Given the description of an element on the screen output the (x, y) to click on. 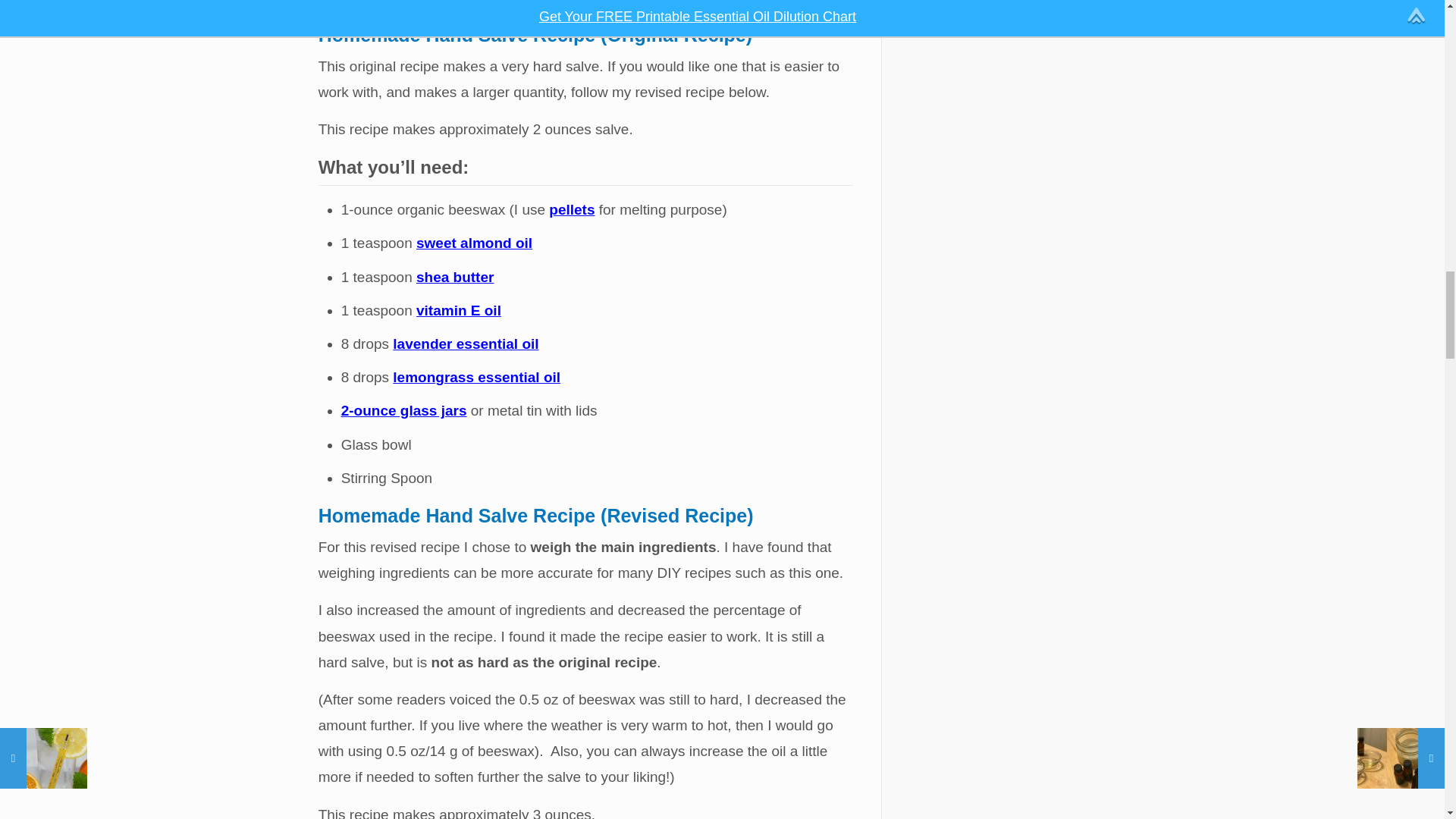
vitamin E oil (458, 310)
sweet almond oil (474, 242)
lavender essential oil (465, 343)
2-ounce glass jars (403, 410)
shea butter (454, 277)
pellets (571, 209)
lemongrass essential oil (476, 376)
